Given the description of an element on the screen output the (x, y) to click on. 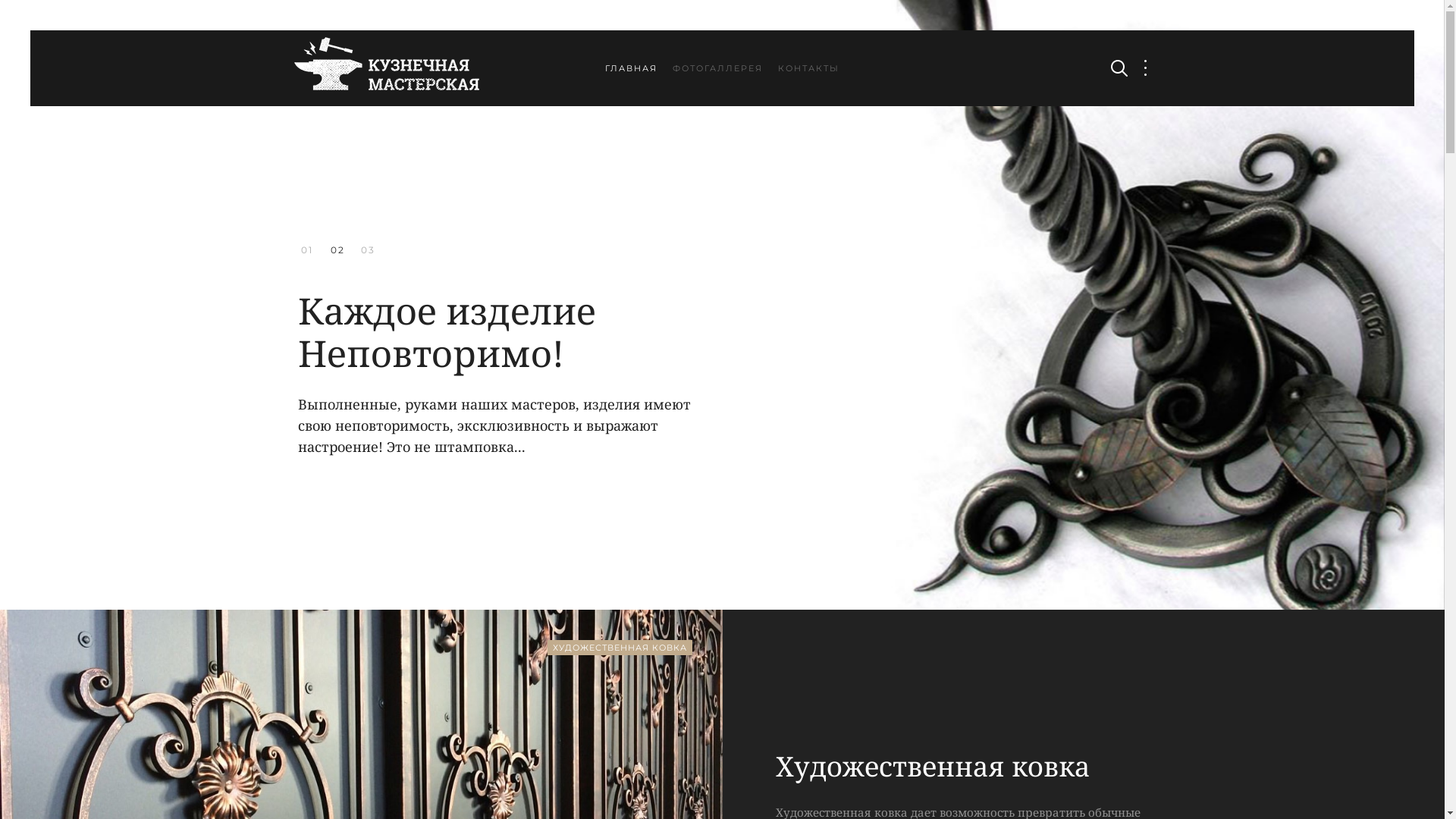
+375 (29) 699-04-92 Element type: text (721, 648)
